Given the description of an element on the screen output the (x, y) to click on. 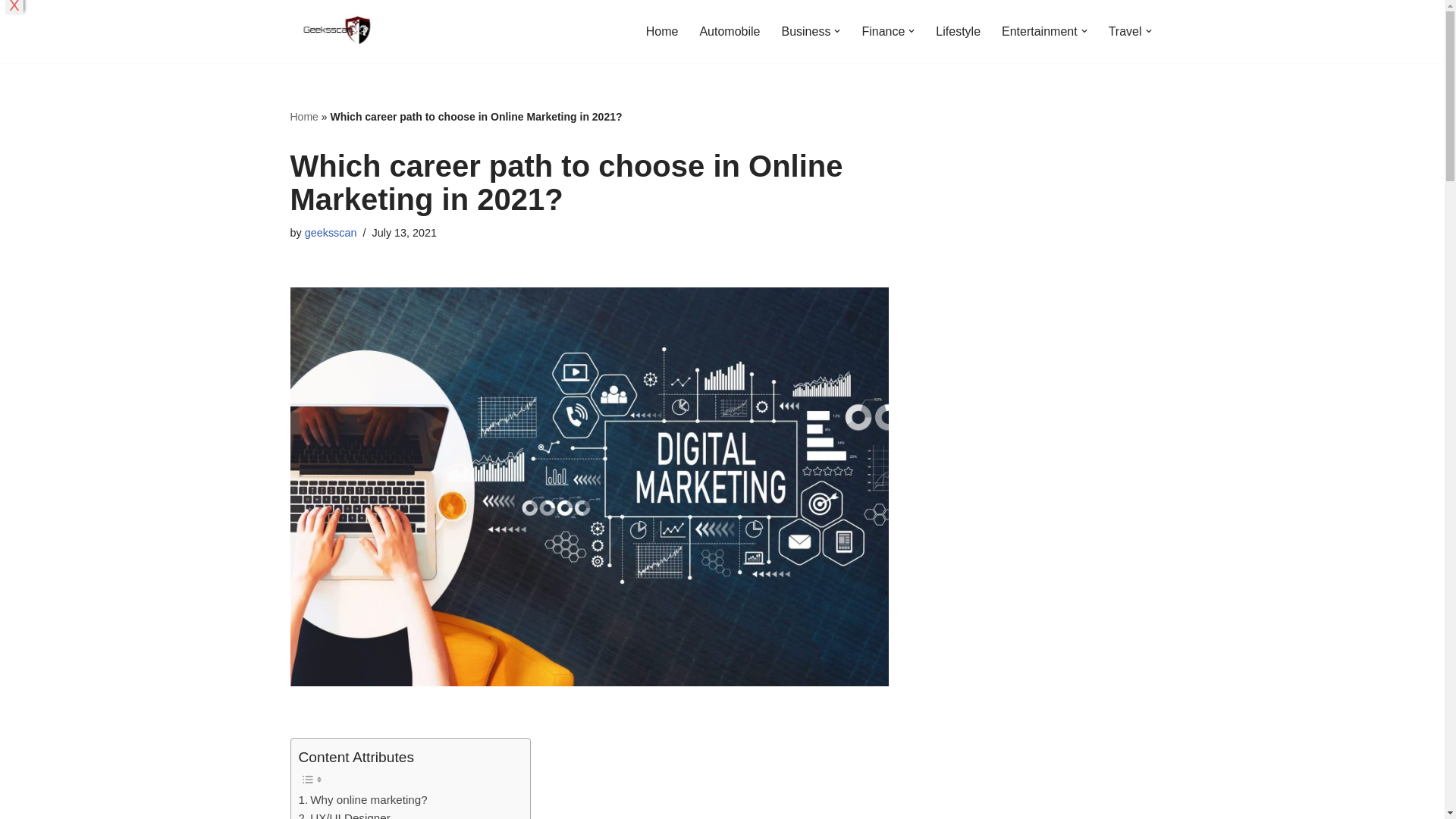
Lifestyle (957, 31)
Home (662, 31)
Business (804, 31)
Posts by geeksscan (330, 232)
Finance (882, 31)
Why online marketing? (363, 800)
Skip to content (11, 31)
Automobile (729, 31)
Entertainment (1039, 31)
Travel (1124, 31)
